Given the description of an element on the screen output the (x, y) to click on. 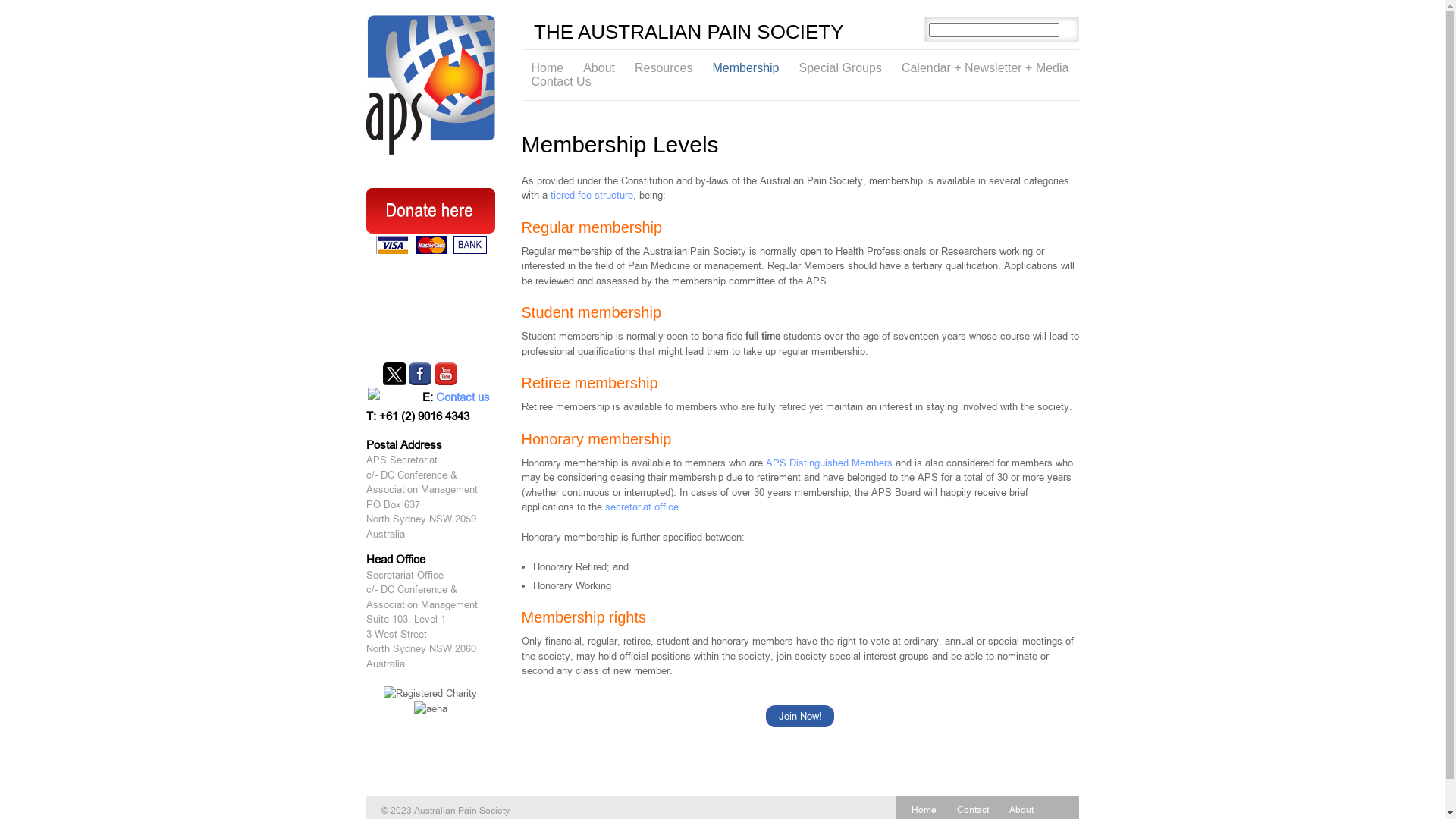
Membership Element type: text (745, 68)
APS Blog Element type: text (431, 339)
Resources Element type: text (663, 68)
secretariat office Element type: text (641, 506)
PayPal - The safer, easier way to pay online! Element type: hover (431, 222)
tiered fee structure Element type: text (591, 194)
Special Groups Element type: text (840, 68)
Contact Us Element type: text (561, 81)
Home Element type: text (547, 68)
About Element type: text (1021, 809)
About Element type: text (598, 68)
Calendar + Newsletter + Media Element type: text (985, 68)
Contact us Element type: text (462, 396)
APS Distinguished Members Element type: text (828, 462)
Join Now! Element type: text (799, 716)
Member Login Element type: text (431, 289)
Home Element type: text (923, 809)
Contact Element type: text (972, 809)
Australian Pain Society Element type: hover (429, 84)
